Given the description of an element on the screen output the (x, y) to click on. 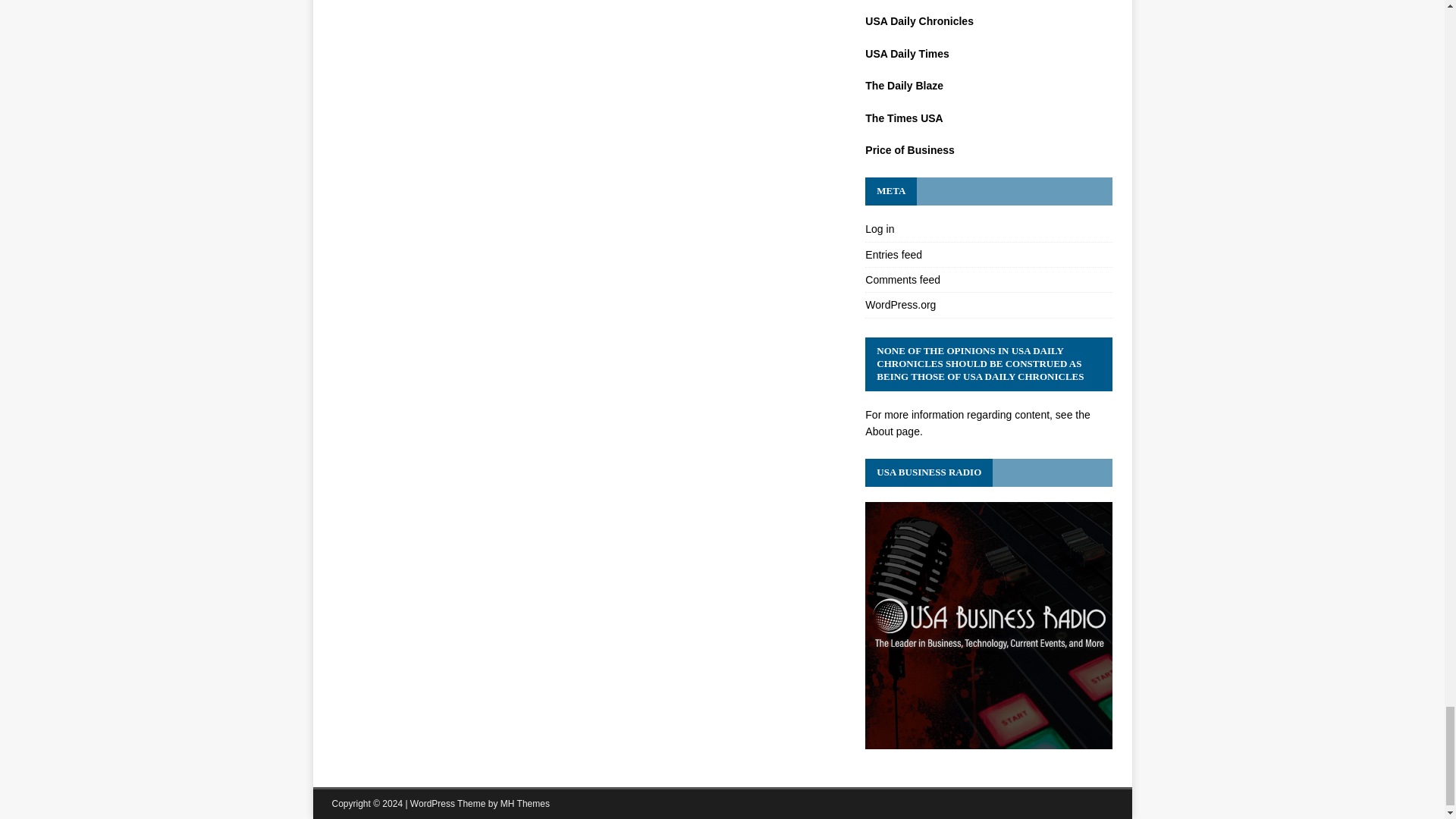
USA Business Radio (988, 740)
